Given the description of an element on the screen output the (x, y) to click on. 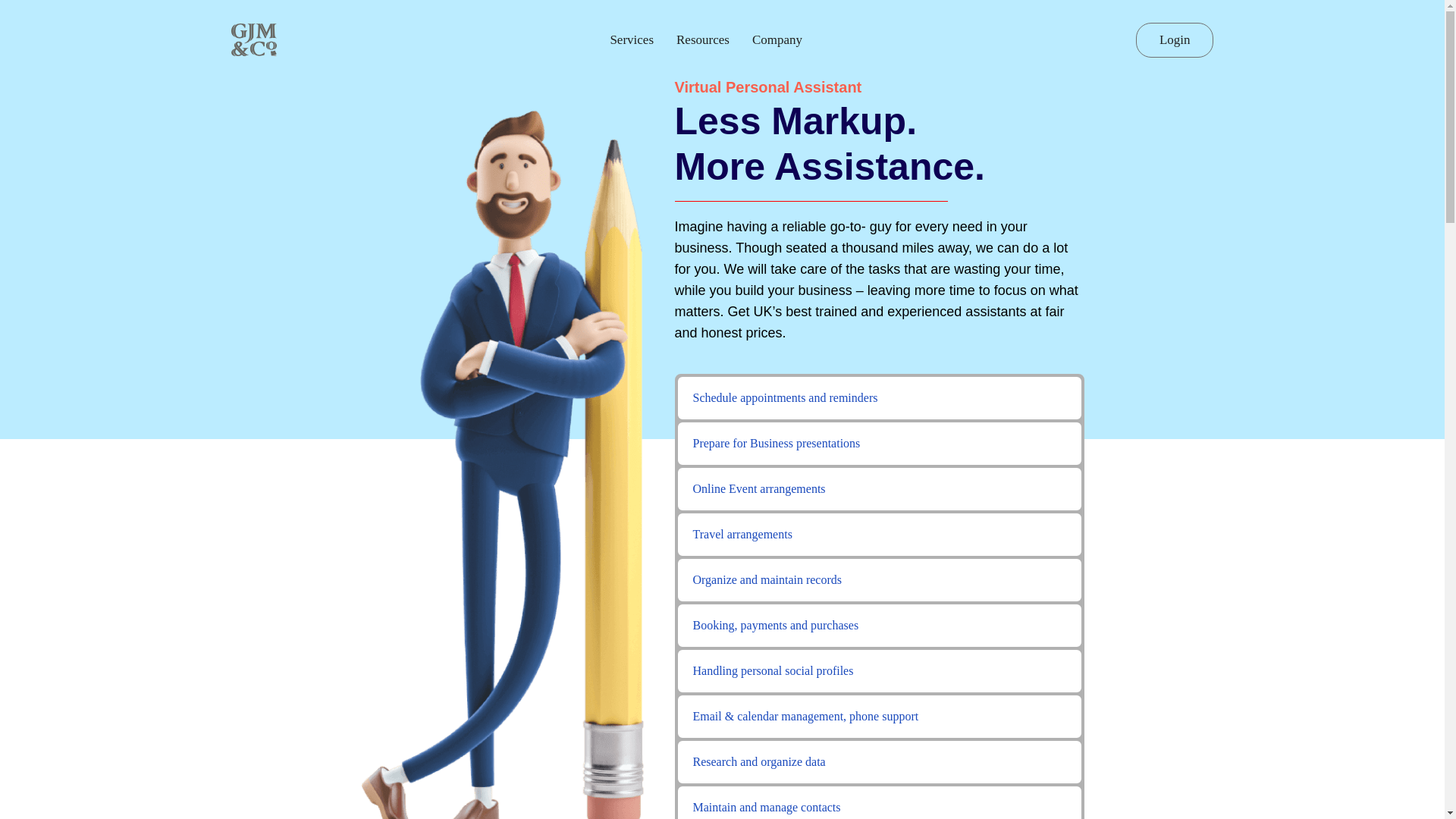
Login (1174, 39)
Resources (703, 40)
Company (777, 40)
